Given the description of an element on the screen output the (x, y) to click on. 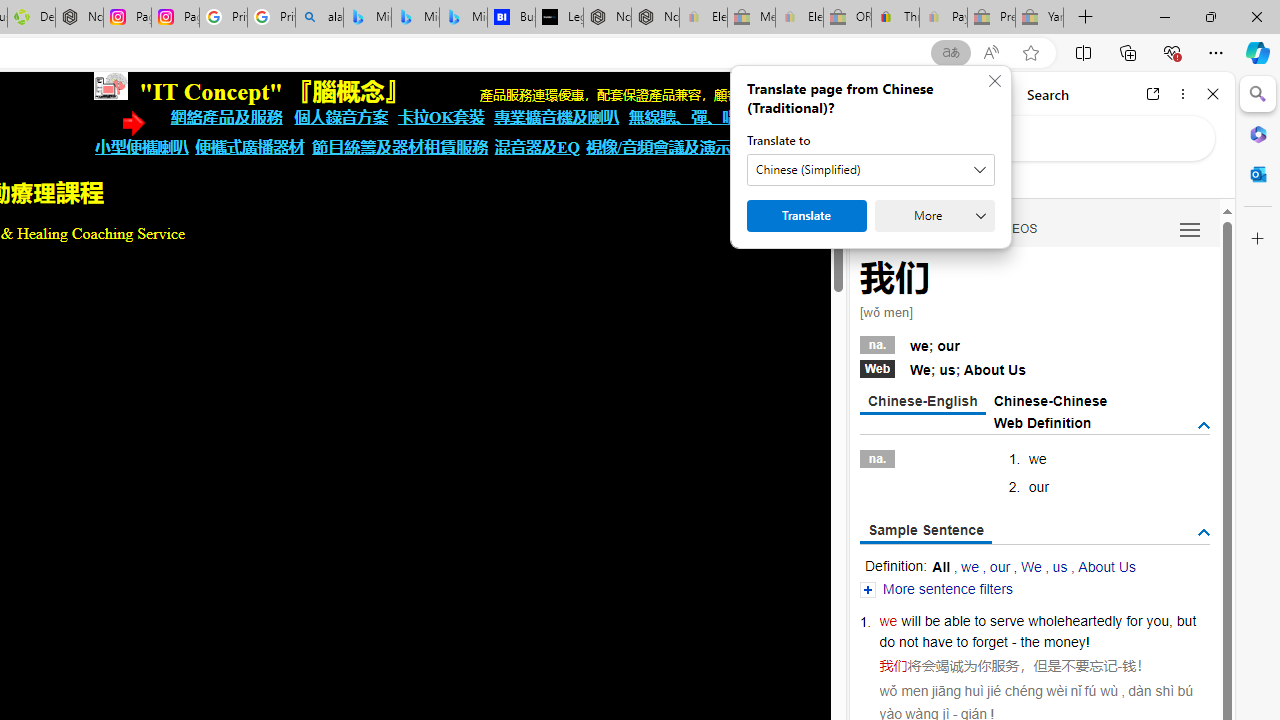
Payments Terms of Use | eBay.com - Sleeping (943, 17)
Browser essentials (1171, 52)
